Given the description of an element on the screen output the (x, y) to click on. 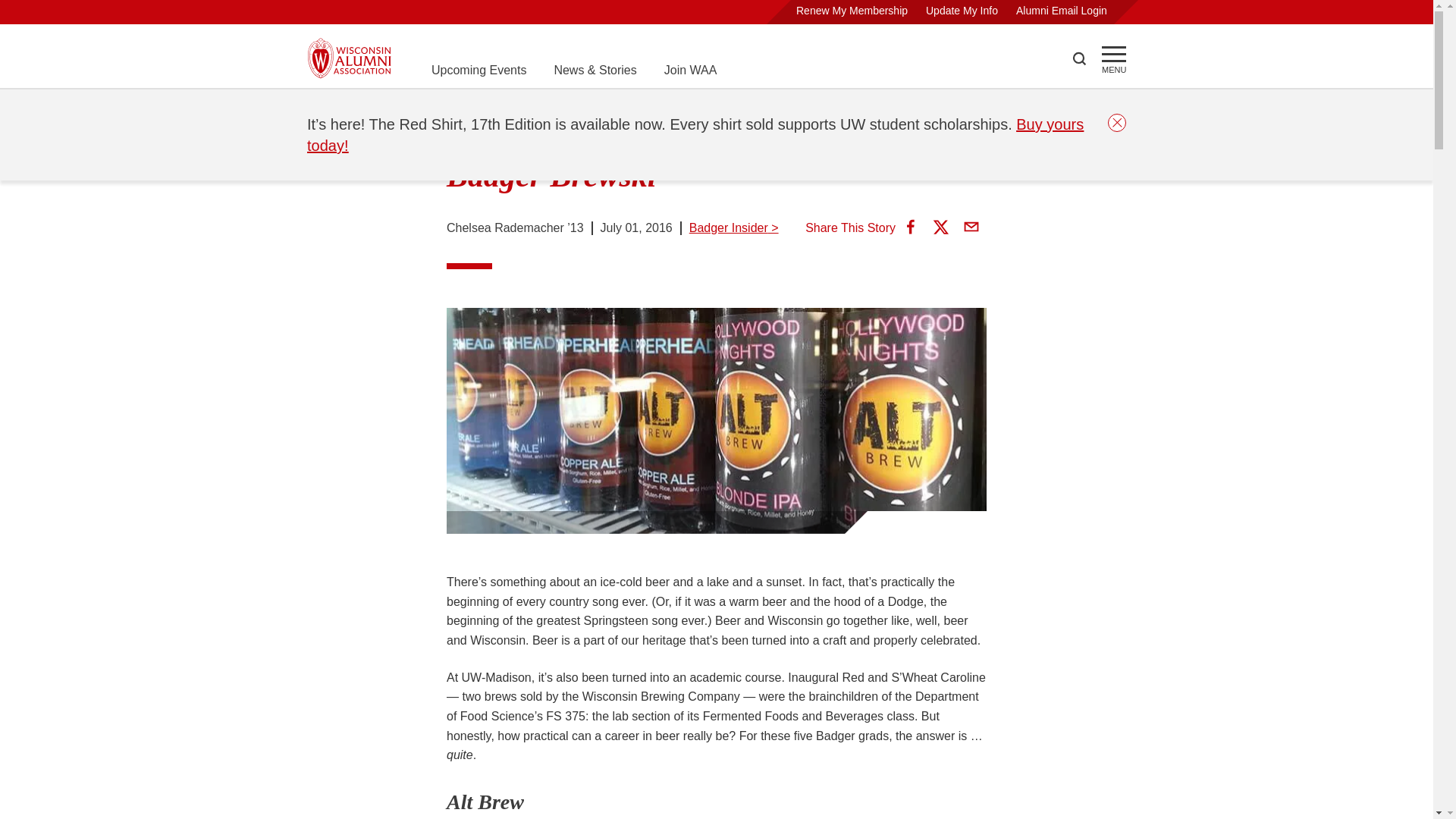
Join WAA (690, 70)
Update My Info (961, 10)
Alumni Email Login (1061, 10)
Upcoming Events (477, 70)
Home (322, 107)
Renew My Membership (851, 10)
Badger Insider (468, 107)
